Given the description of an element on the screen output the (x, y) to click on. 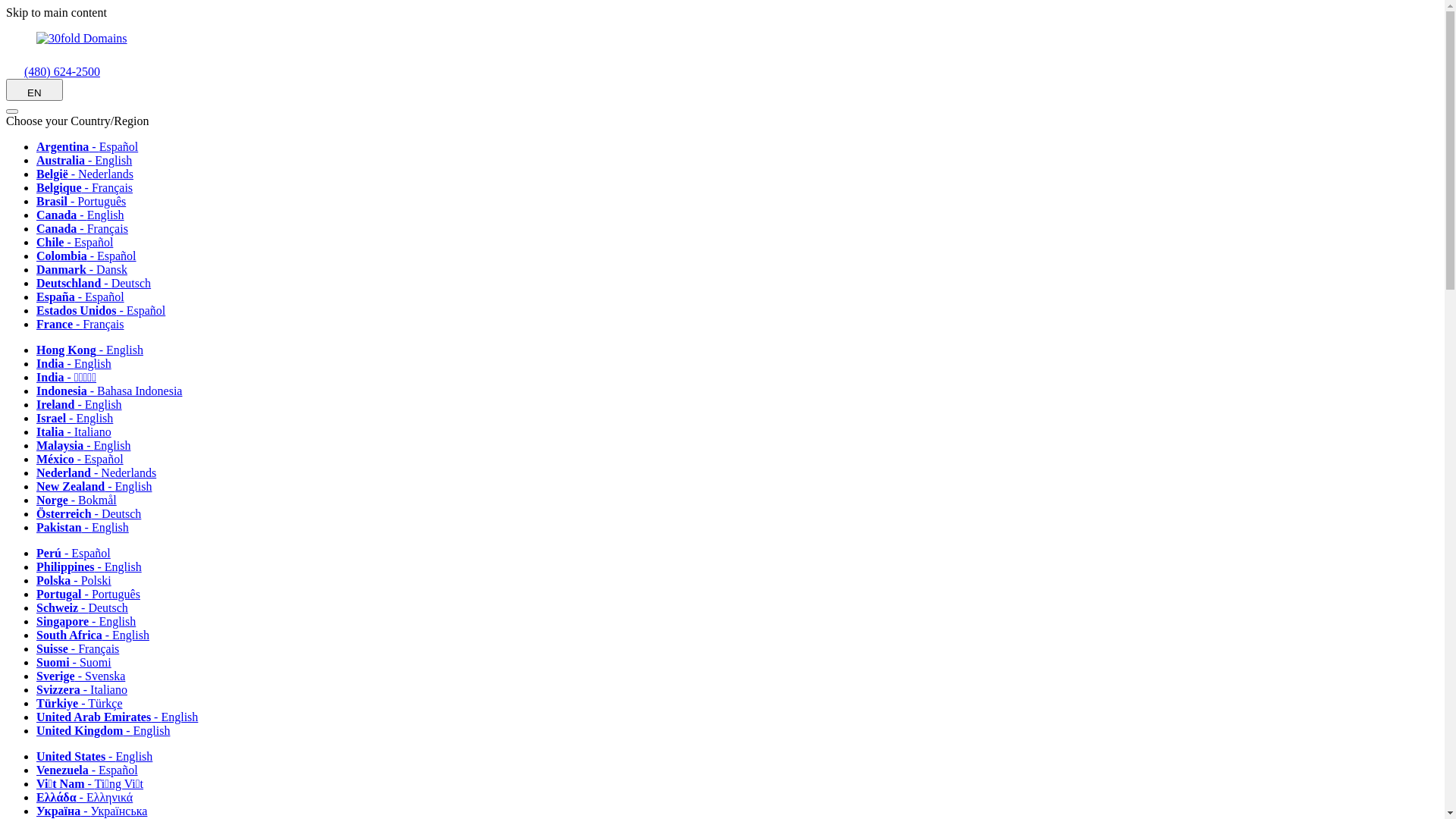
Deutschland - Deutsch Element type: text (98, 282)
United Kingdom - English Element type: text (108, 730)
Suomi - Suomi Element type: text (79, 661)
Israel - English Element type: text (79, 417)
Pakistan - English Element type: text (87, 526)
Contact Us Element type: hover (15, 71)
(480) 624-2500 Element type: text (53, 71)
Malaysia - English Element type: text (88, 445)
New Zealand - English Element type: text (99, 486)
Danmark - Dansk Element type: text (87, 269)
Svizzera - Italiano Element type: text (87, 689)
Ireland - English Element type: text (84, 404)
EN Element type: text (34, 89)
Schweiz - Deutsch Element type: text (87, 607)
South Africa - English Element type: text (98, 634)
Skip to main content Element type: text (56, 12)
Canada - English Element type: text (85, 214)
Indonesia - Bahasa Indonesia Element type: text (114, 390)
Philippines - English Element type: text (94, 566)
Singapore - English Element type: text (91, 621)
Sverige - Svenska Element type: text (85, 675)
United Arab Emirates - English Element type: text (122, 716)
Polska - Polski Element type: text (79, 580)
Australia - English Element type: text (89, 159)
India - English Element type: text (79, 363)
Hong Kong - English Element type: text (94, 349)
Italia - Italiano Element type: text (79, 431)
United States - English Element type: text (99, 755)
Nederland - Nederlands Element type: text (101, 472)
